Given the description of an element on the screen output the (x, y) to click on. 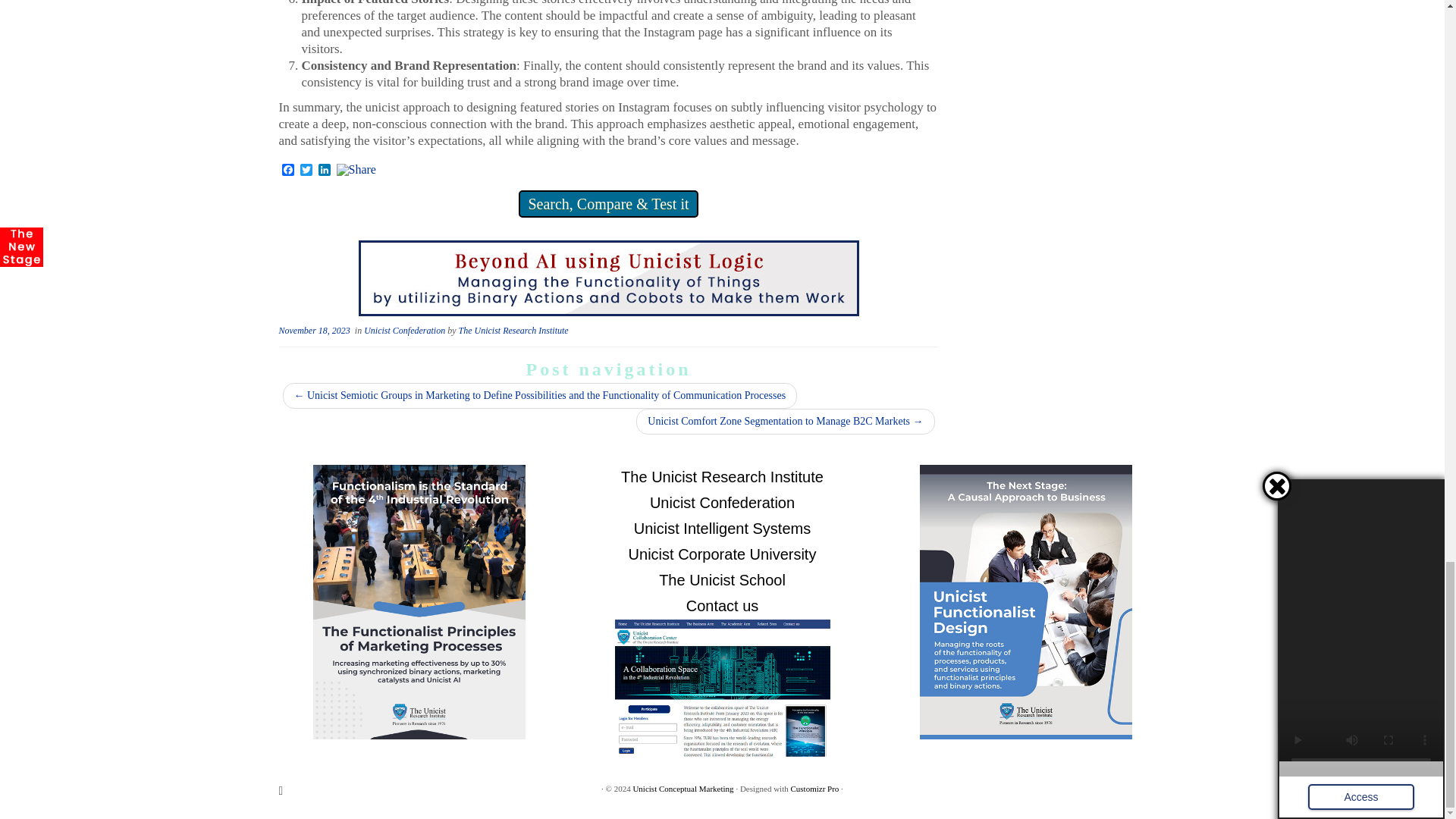
Unicist Functionalist Principles (608, 277)
LinkedIn (324, 170)
View all posts in Unicist Confederation (405, 330)
View all posts by The Unicist Research Institute (512, 330)
Twitter (306, 170)
LinkedIn (324, 170)
Facebook (288, 170)
8:26 pm (314, 330)
Facebook (288, 170)
Twitter (306, 170)
